Given the description of an element on the screen output the (x, y) to click on. 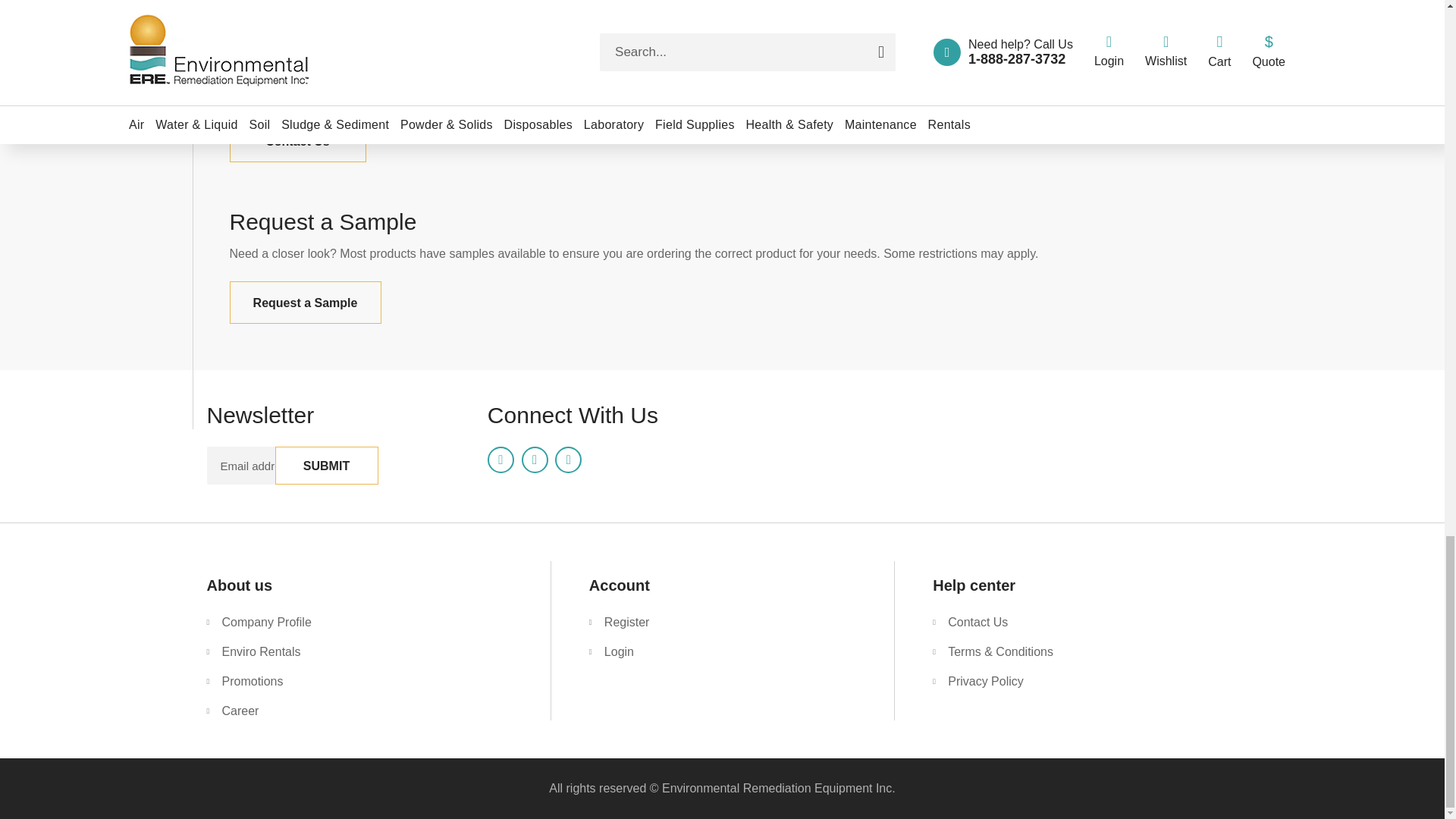
Submit (326, 465)
